Given the description of an element on the screen output the (x, y) to click on. 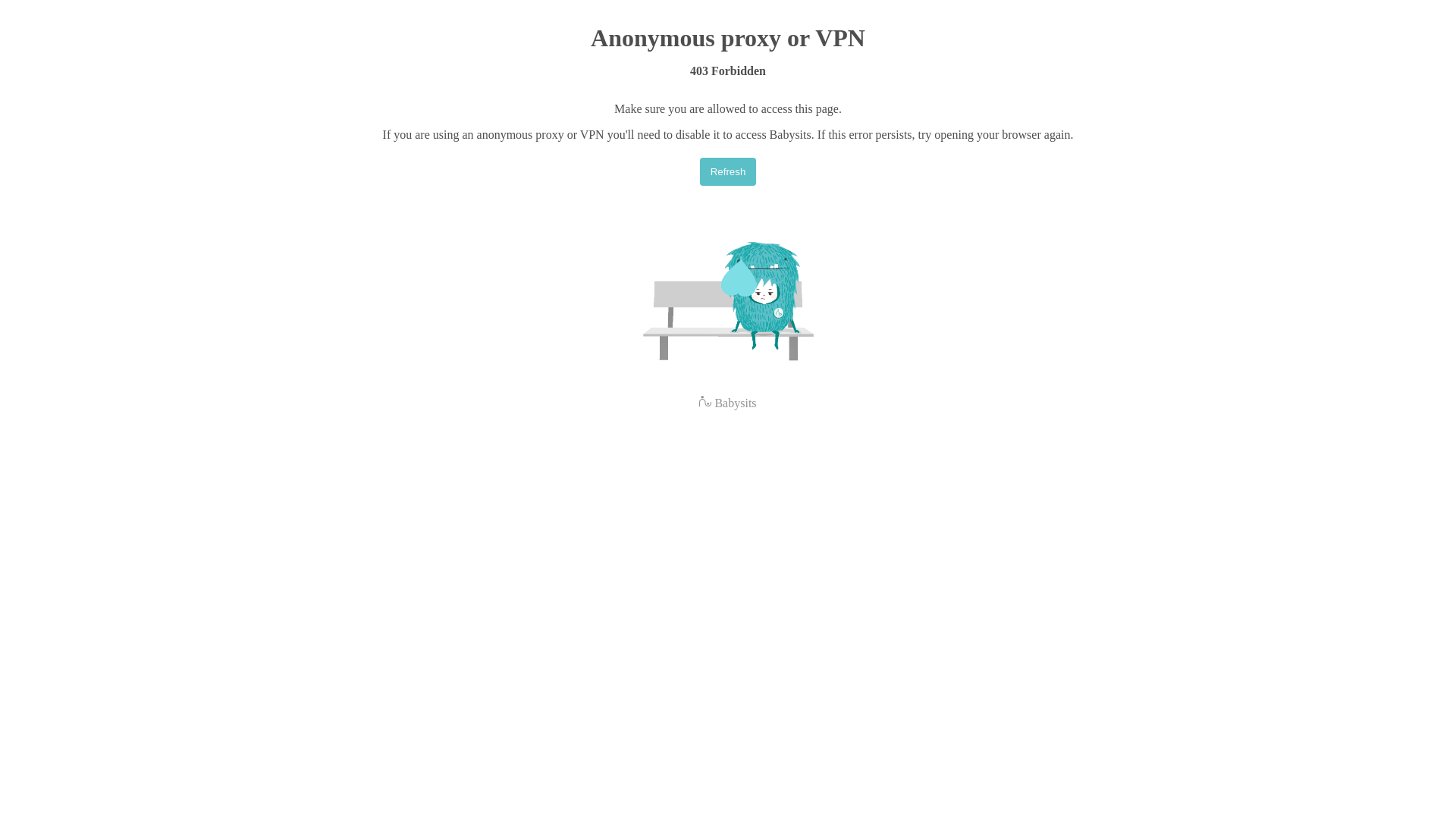
Refresh Element type: text (727, 171)
